Given the description of an element on the screen output the (x, y) to click on. 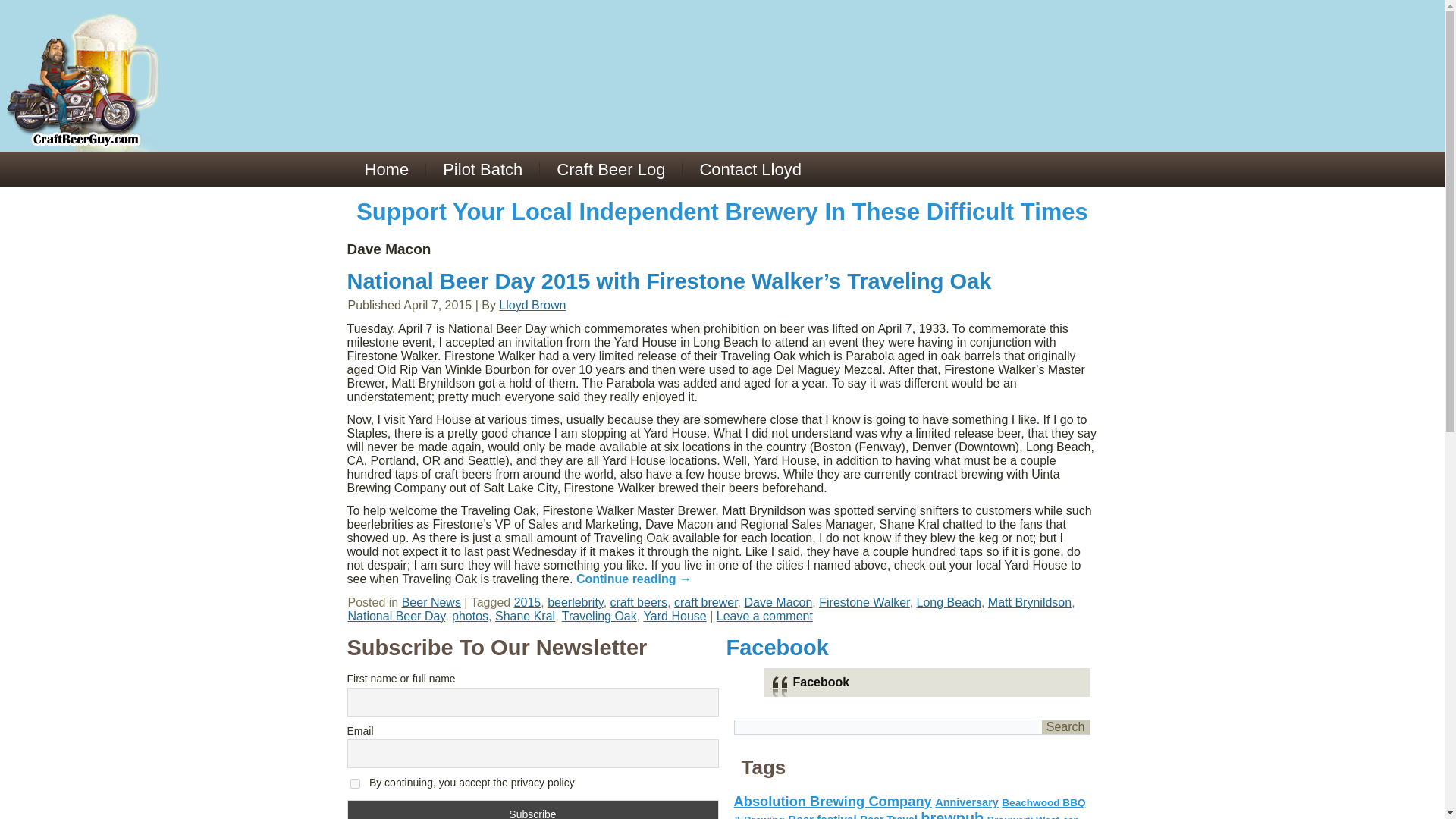
View all posts by Lloyd Brown (532, 305)
photos (469, 615)
Matt Brynildson (1029, 602)
Subscribe (533, 809)
Dave Macon (778, 602)
on (354, 783)
Lloyd Brown (532, 305)
Shane Kral (524, 615)
Traveling Oak (599, 615)
Contact Lloyd (750, 169)
